Given the description of an element on the screen output the (x, y) to click on. 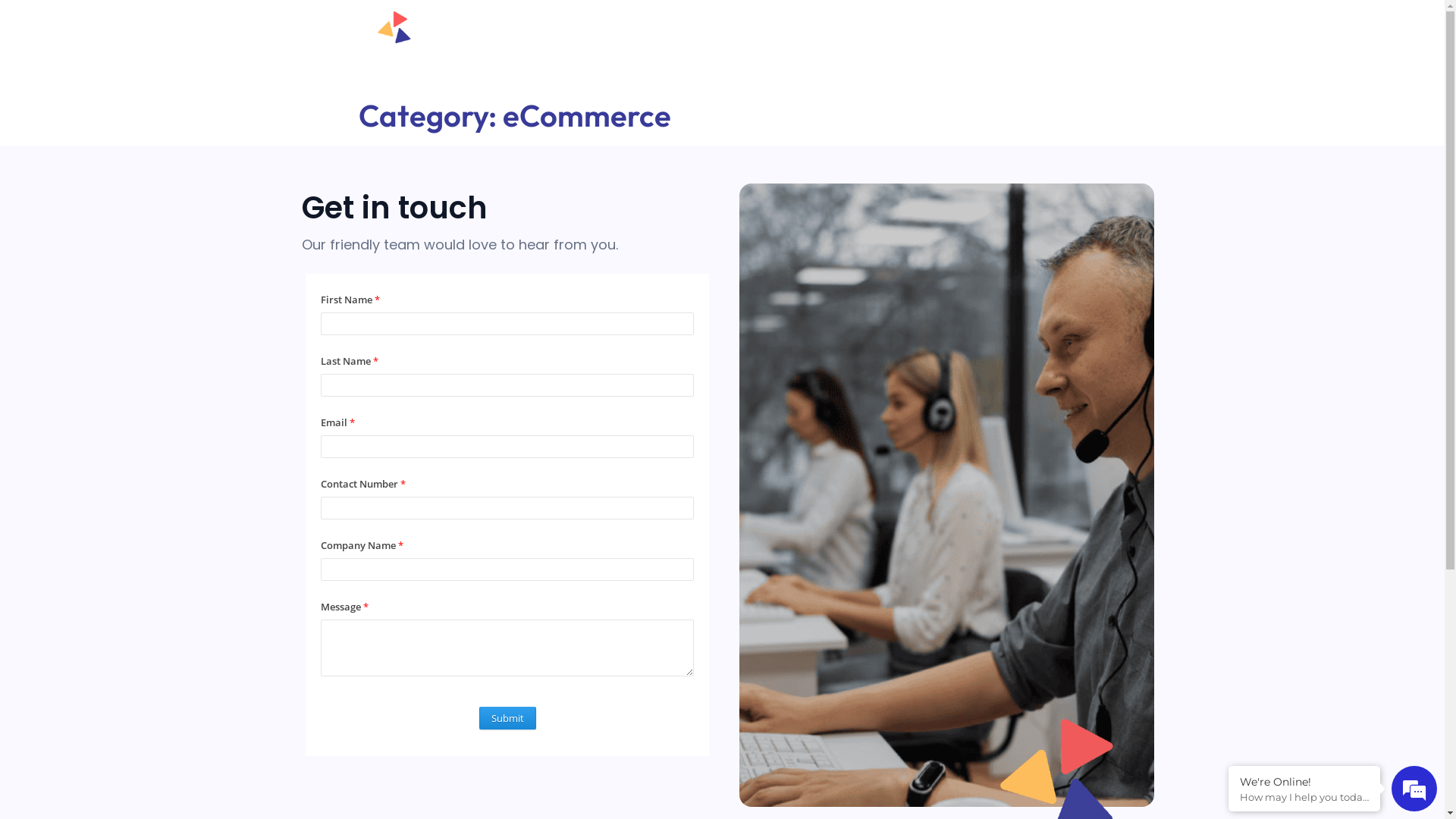
Contact Us Element type: text (1102, 45)
Services Element type: text (838, 45)
About Us Element type: text (1020, 45)
Zoho Products Element type: text (927, 45)
